Given the description of an element on the screen output the (x, y) to click on. 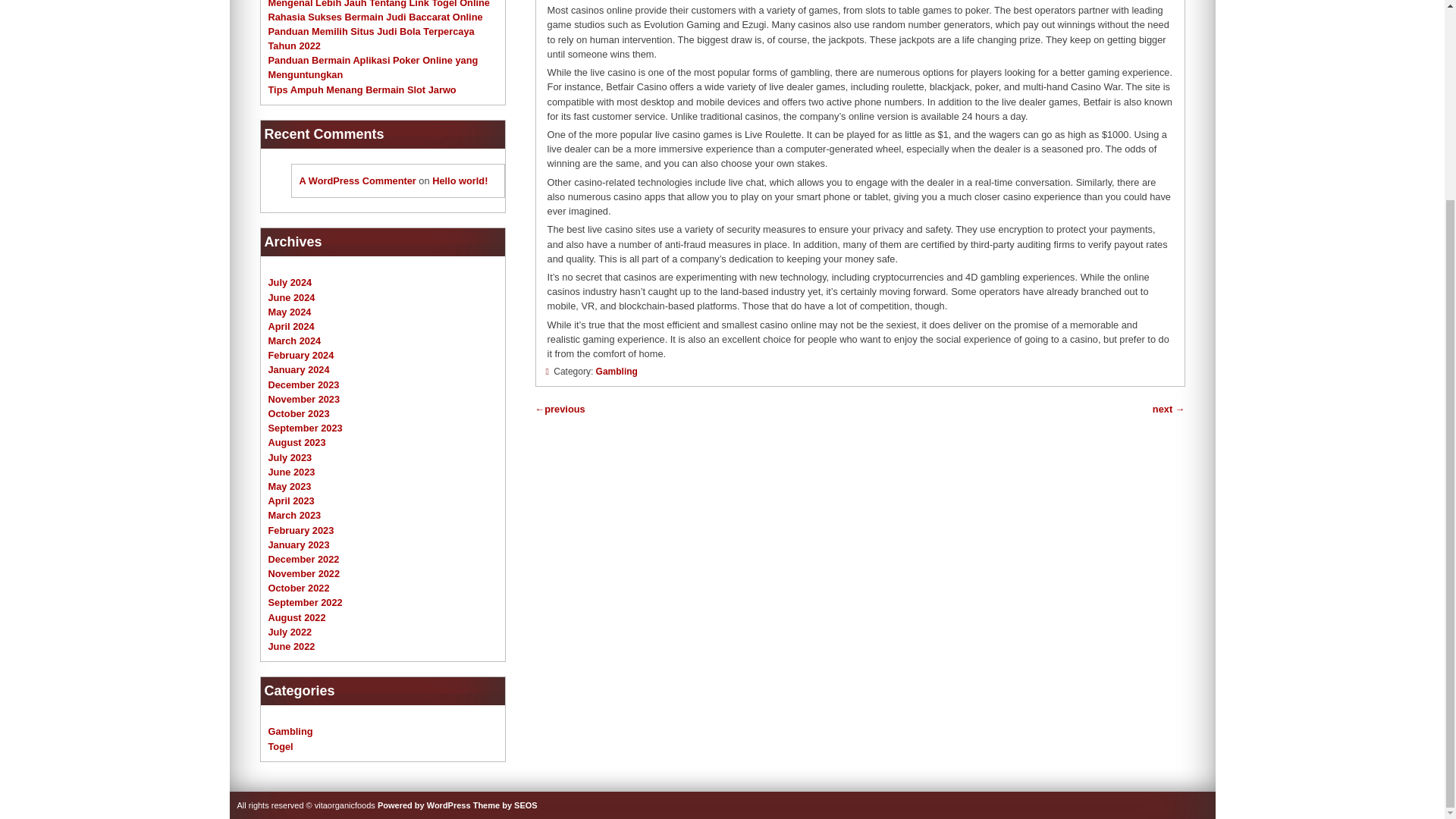
February 2024 (300, 355)
April 2023 (290, 500)
A WordPress Commenter (356, 180)
May 2023 (289, 486)
January 2024 (298, 369)
Panduan Memilih Situs Judi Bola Terpercaya Tahun 2022 (370, 38)
Hello world! (459, 180)
October 2023 (298, 413)
March 2023 (294, 514)
February 2023 (300, 530)
July 2023 (290, 457)
June 2024 (291, 297)
January 2023 (298, 544)
March 2024 (294, 340)
Tips Ampuh Menang Bermain Slot Jarwo (362, 89)
